Given the description of an element on the screen output the (x, y) to click on. 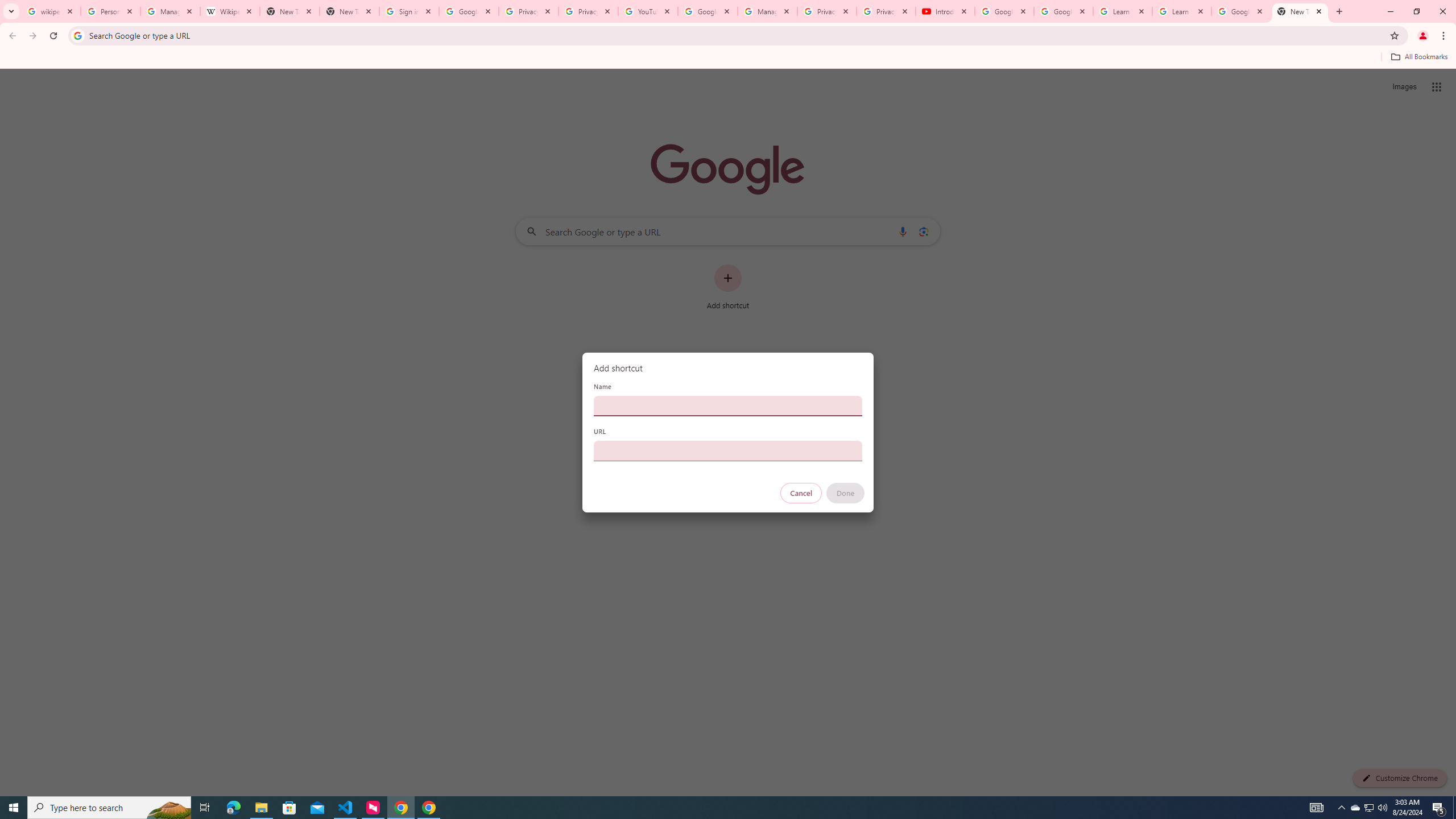
URL (727, 450)
Sign in - Google Accounts (409, 11)
Manage your Location History - Google Search Help (170, 11)
New Tab (349, 11)
Google Drive: Sign-in (468, 11)
